Given the description of an element on the screen output the (x, y) to click on. 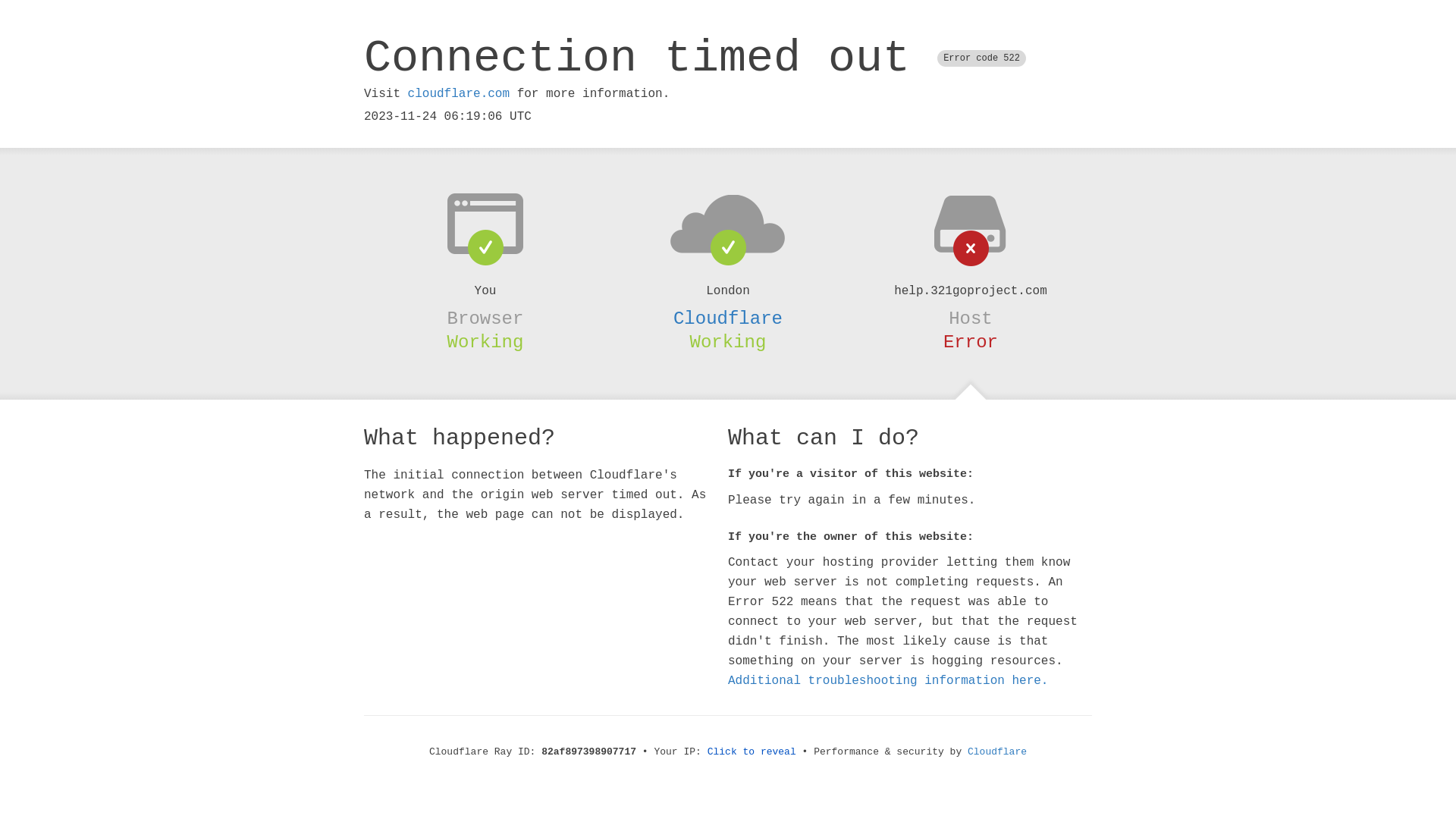
Click to reveal Element type: text (751, 751)
Cloudflare Element type: text (996, 751)
Additional troubleshooting information here. Element type: text (888, 680)
cloudflare.com Element type: text (458, 93)
Cloudflare Element type: text (727, 318)
